Given the description of an element on the screen output the (x, y) to click on. 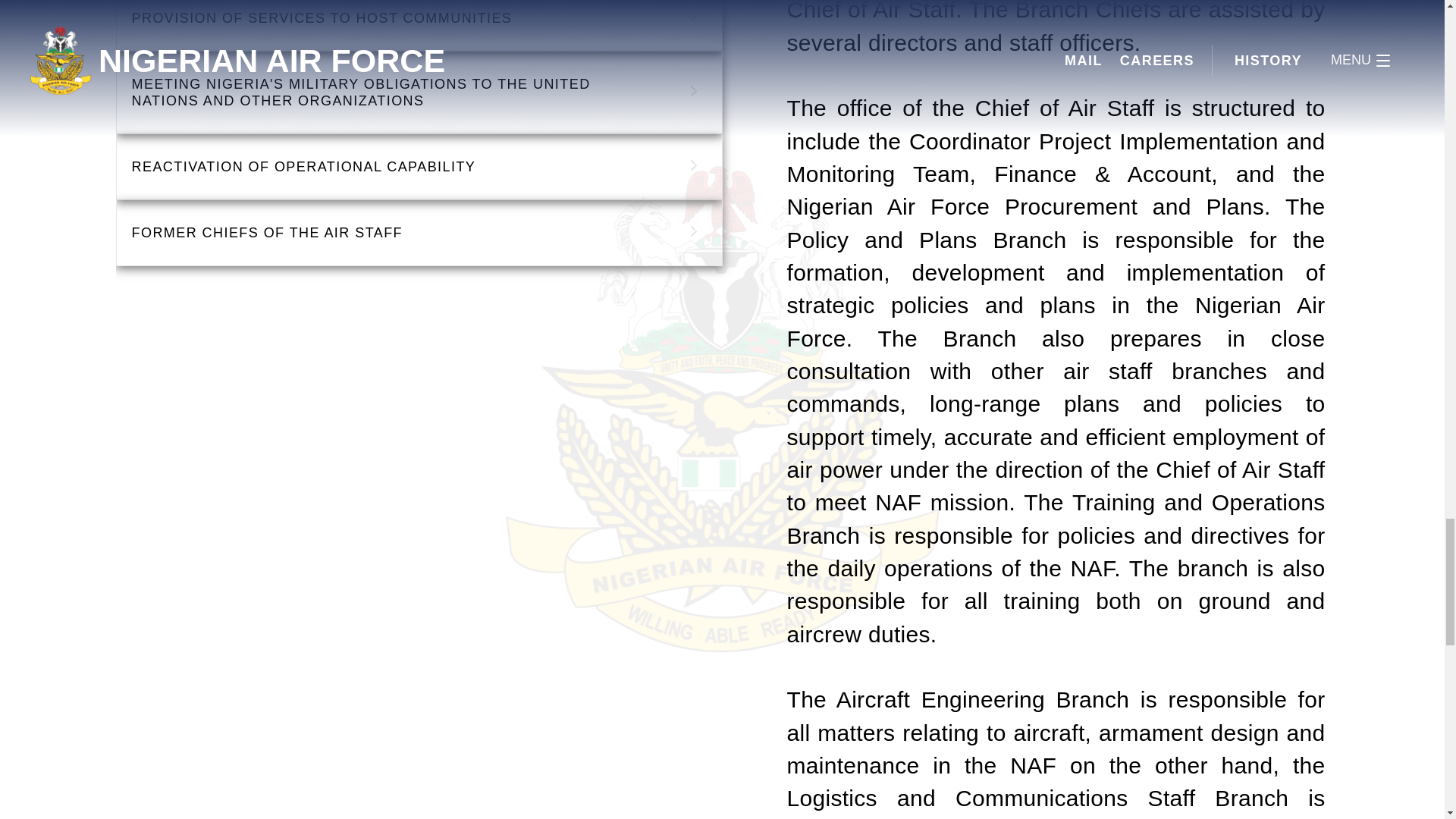
FORMER CHIEFS OF THE AIR STAFF (419, 232)
PROVISION OF SERVICES TO HOST COMMUNITIES (419, 25)
REACTIVATION OF OPERATIONAL CAPABILITY (419, 166)
